Given the description of an element on the screen output the (x, y) to click on. 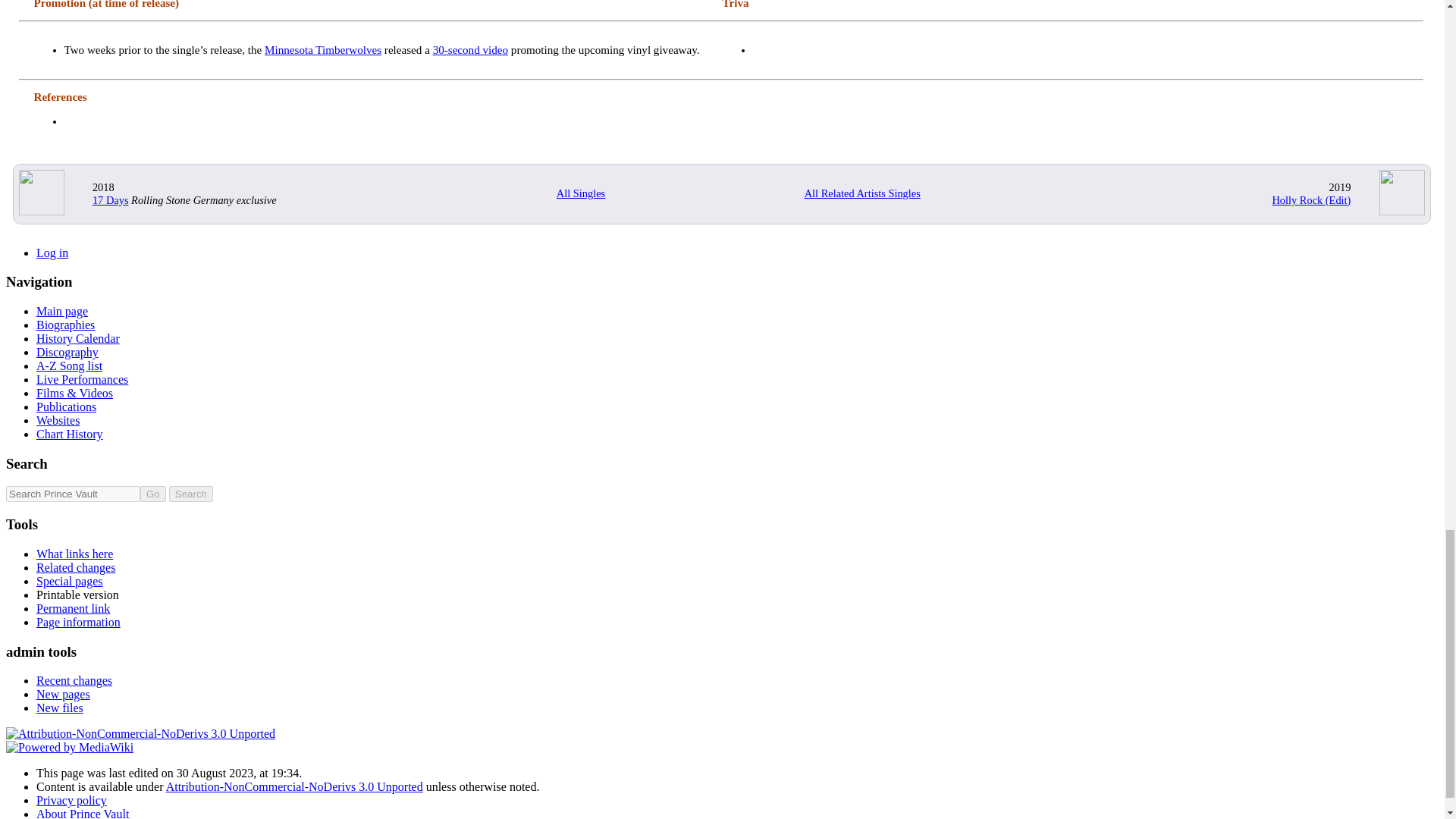
Go (152, 494)
Search (190, 494)
Search (190, 494)
Go (152, 494)
